Given the description of an element on the screen output the (x, y) to click on. 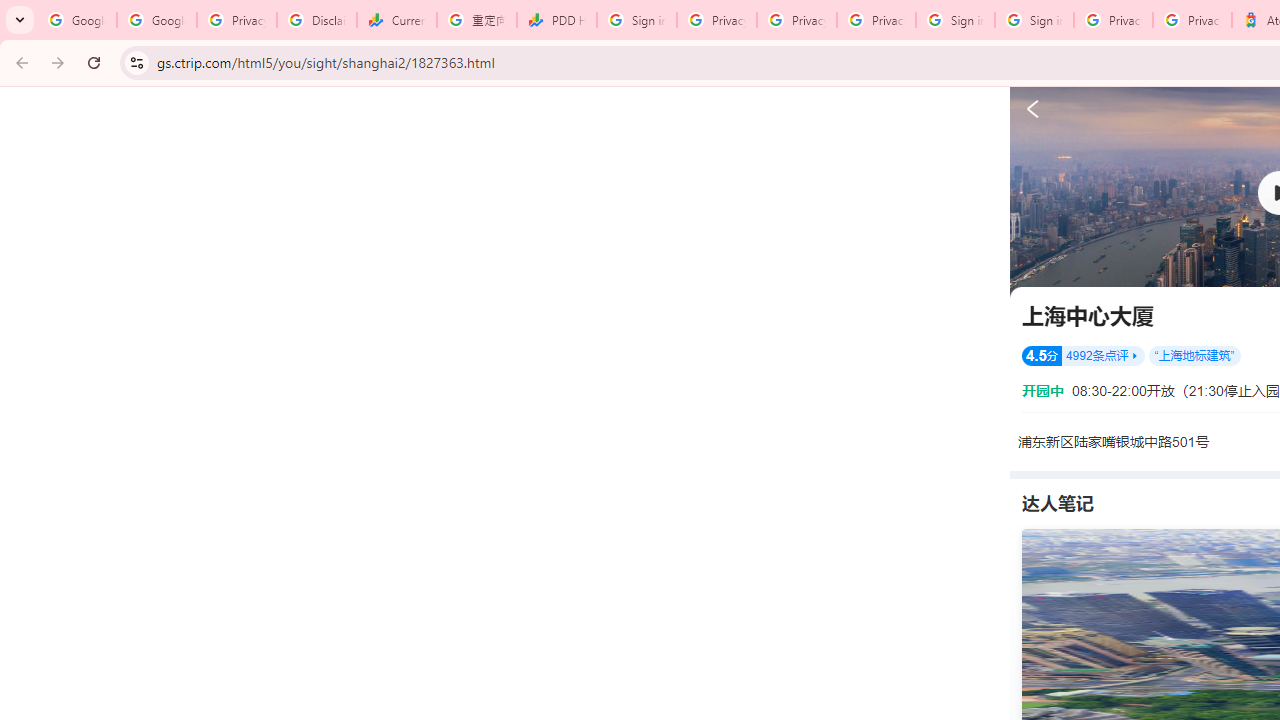
Google Workspace Admin Community (76, 20)
Privacy Checkup (876, 20)
Currencies - Google Finance (396, 20)
Sign in - Google Accounts (955, 20)
